Given the description of an element on the screen output the (x, y) to click on. 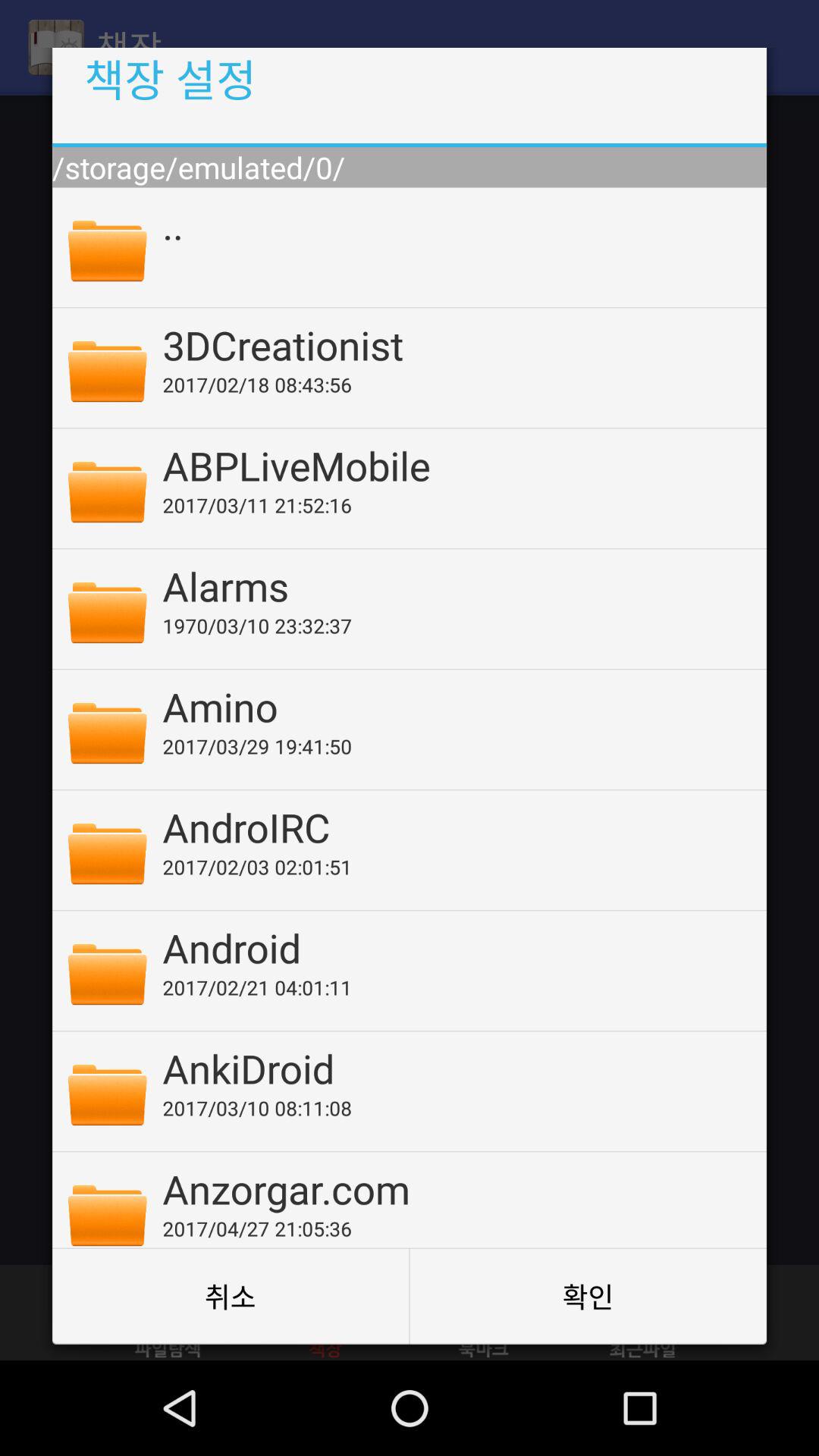
choose icon below the 2017 02 21 (454, 1067)
